Given the description of an element on the screen output the (x, y) to click on. 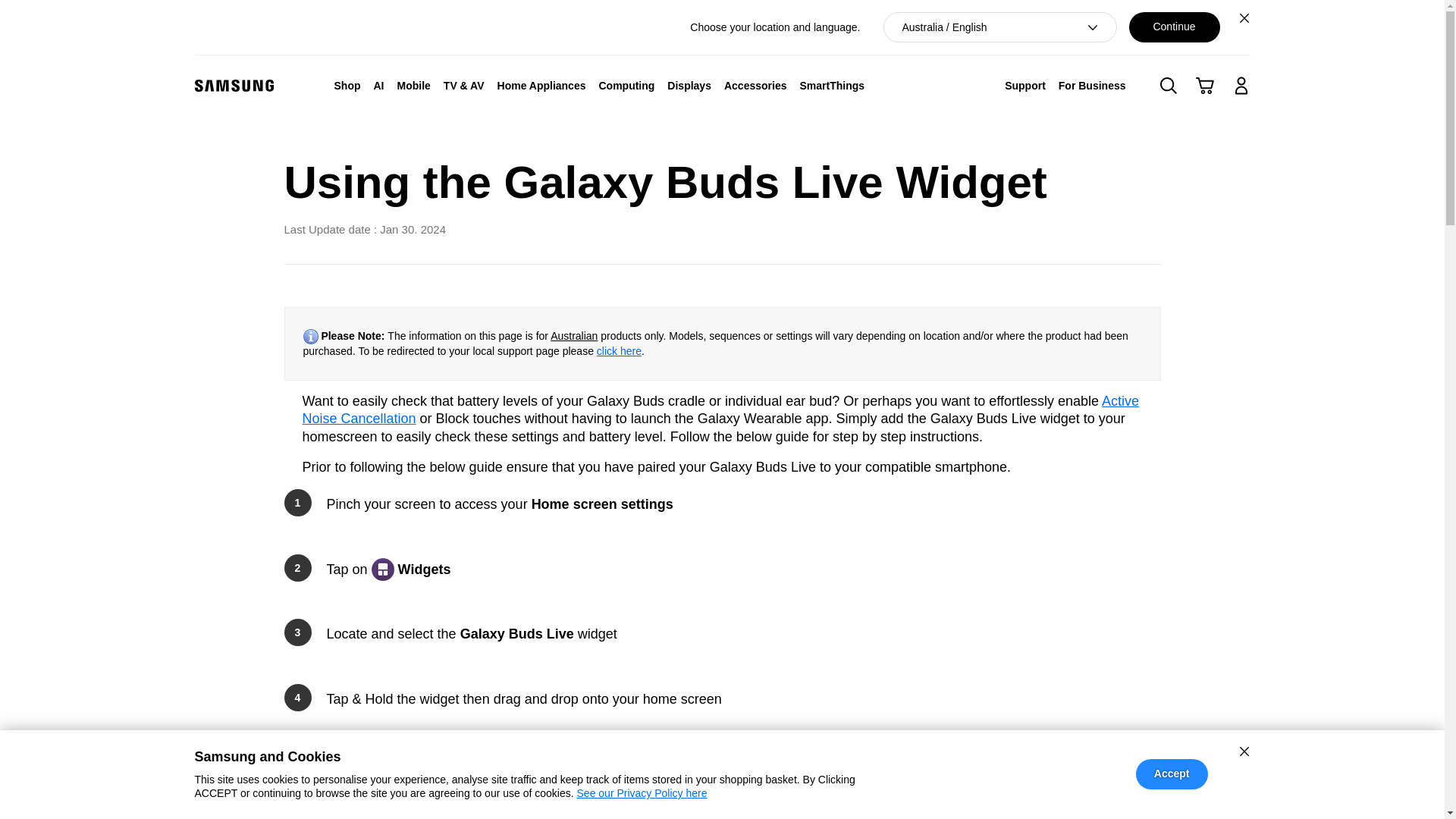
Shop (346, 85)
Enabling Active Noise Cancelling on my Galaxy Buds Live (719, 409)
Accept (1171, 774)
close (1243, 751)
Continue (1174, 27)
Close (1243, 17)
See our Privacy Policy here (641, 793)
Accept (1171, 774)
